Given the description of an element on the screen output the (x, y) to click on. 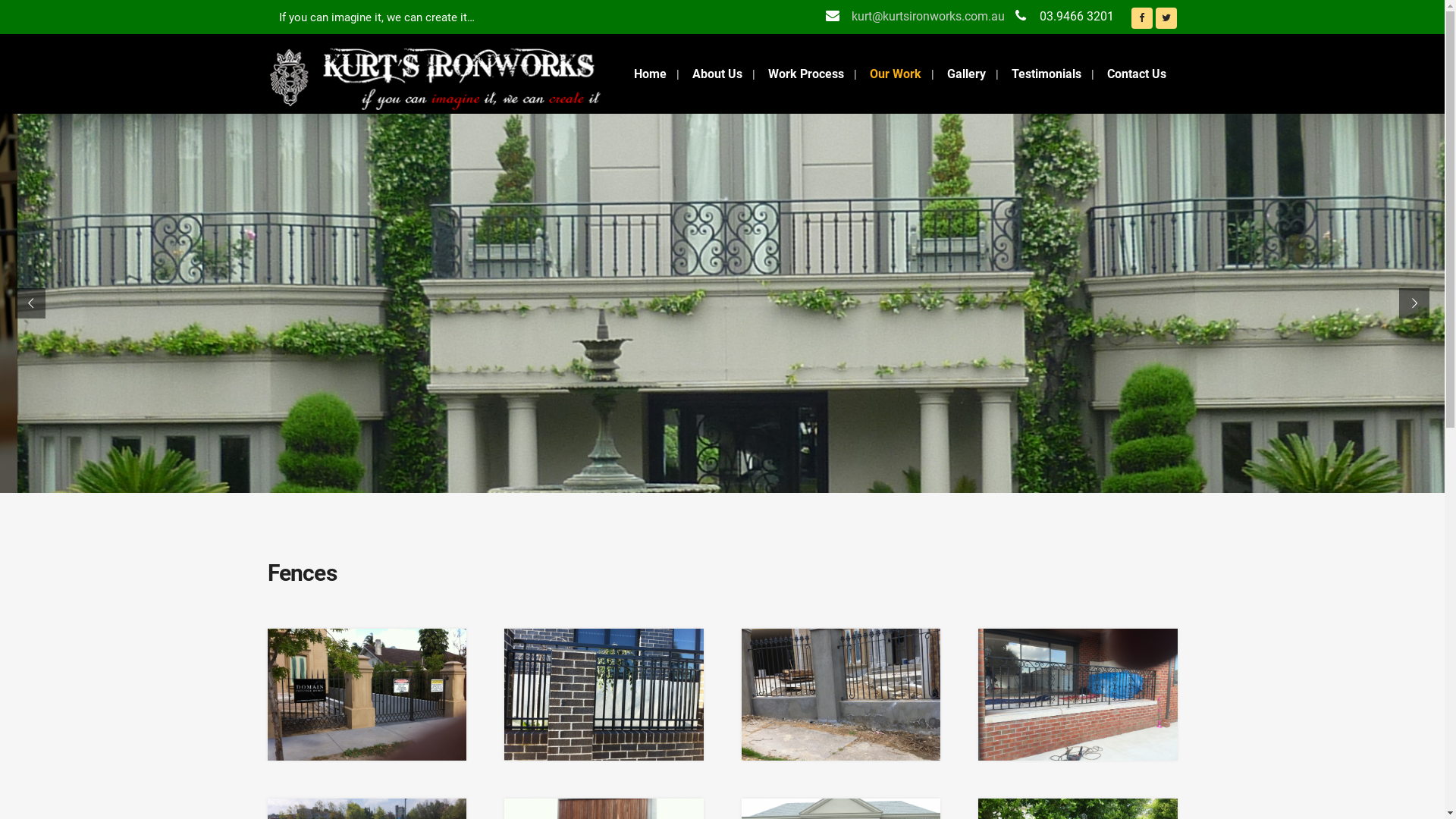
Our Work Element type: text (895, 73)
Fences_3 Element type: hover (841, 694)
Work Process Element type: text (805, 73)
Gallery Element type: text (966, 73)
Home Element type: text (649, 73)
Fences_2 Element type: hover (603, 694)
About Us Element type: text (716, 73)
Fences_1 Element type: hover (366, 694)
Contact Us Element type: text (1135, 73)
Testimonials Element type: text (1045, 73)
Fences_4 Element type: hover (1077, 694)
